Given the description of an element on the screen output the (x, y) to click on. 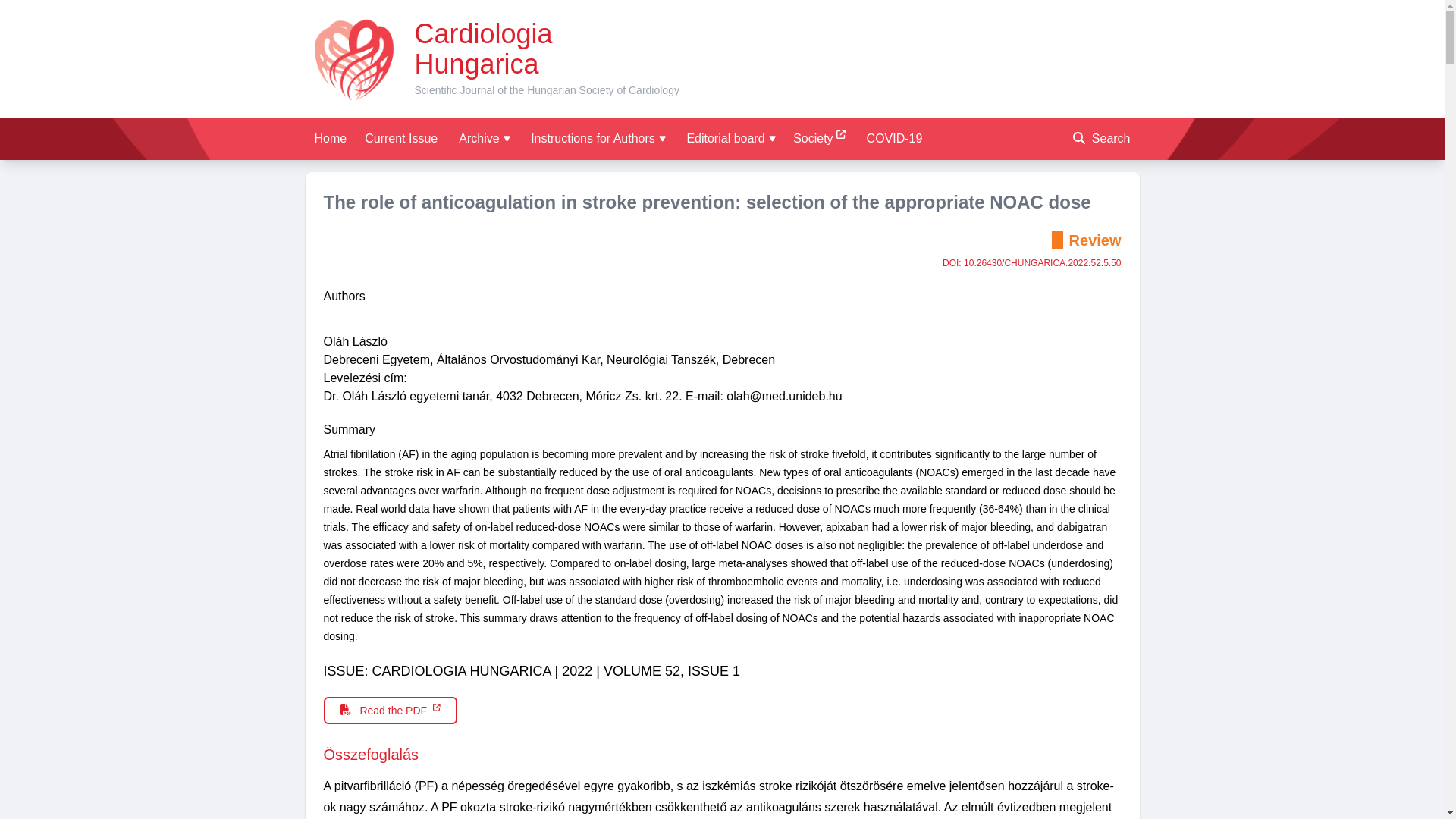
Home (329, 138)
Current Issue (400, 138)
Archive (483, 138)
